Given the description of an element on the screen output the (x, y) to click on. 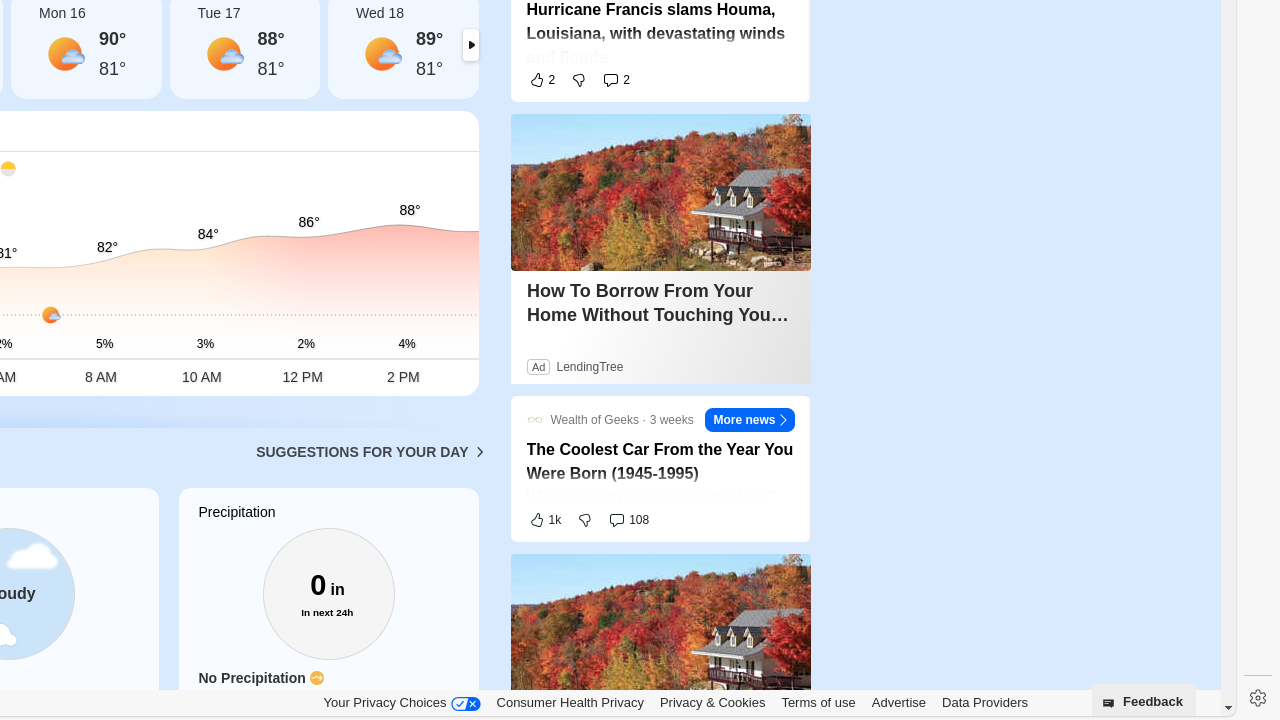
Like Element type: push-button (542, 80)
Settings Element type: push-button (1258, 698)
LendingTree Element type: link (589, 367)
See 2 comments Element type: link (616, 80)
Data Providers Element type: link (985, 702)
